Given the description of an element on the screen output the (x, y) to click on. 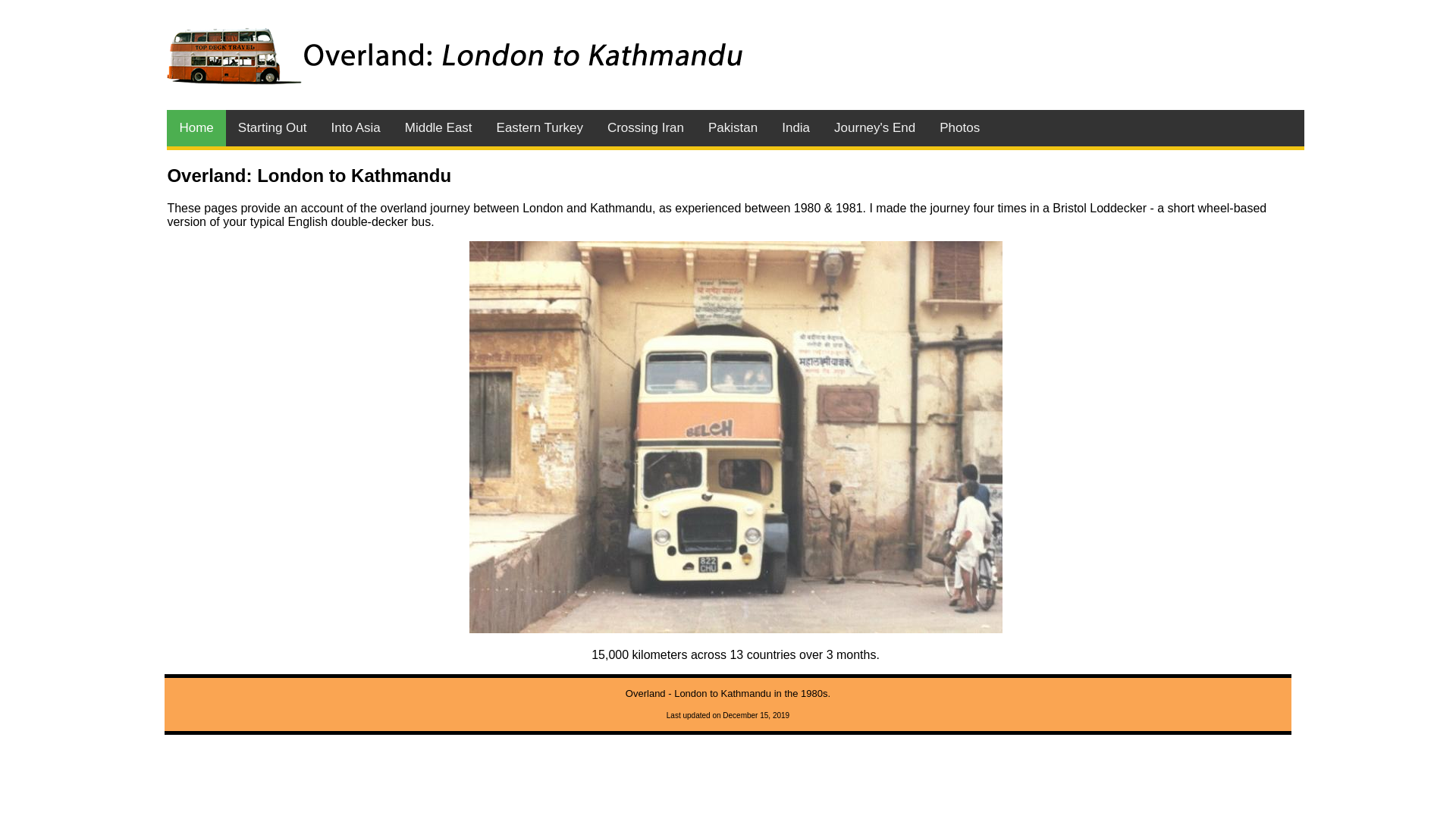
Middle East Element type: text (438, 127)
Into Asia Element type: text (355, 127)
Photos Element type: text (959, 127)
Starting Out Element type: text (272, 127)
Journey's End Element type: text (874, 127)
Home Element type: text (195, 127)
Pakistan Element type: text (732, 127)
India Element type: text (795, 127)
Eastern Turkey Element type: text (539, 127)
Crossing Iran Element type: text (645, 127)
